Given the description of an element on the screen output the (x, y) to click on. 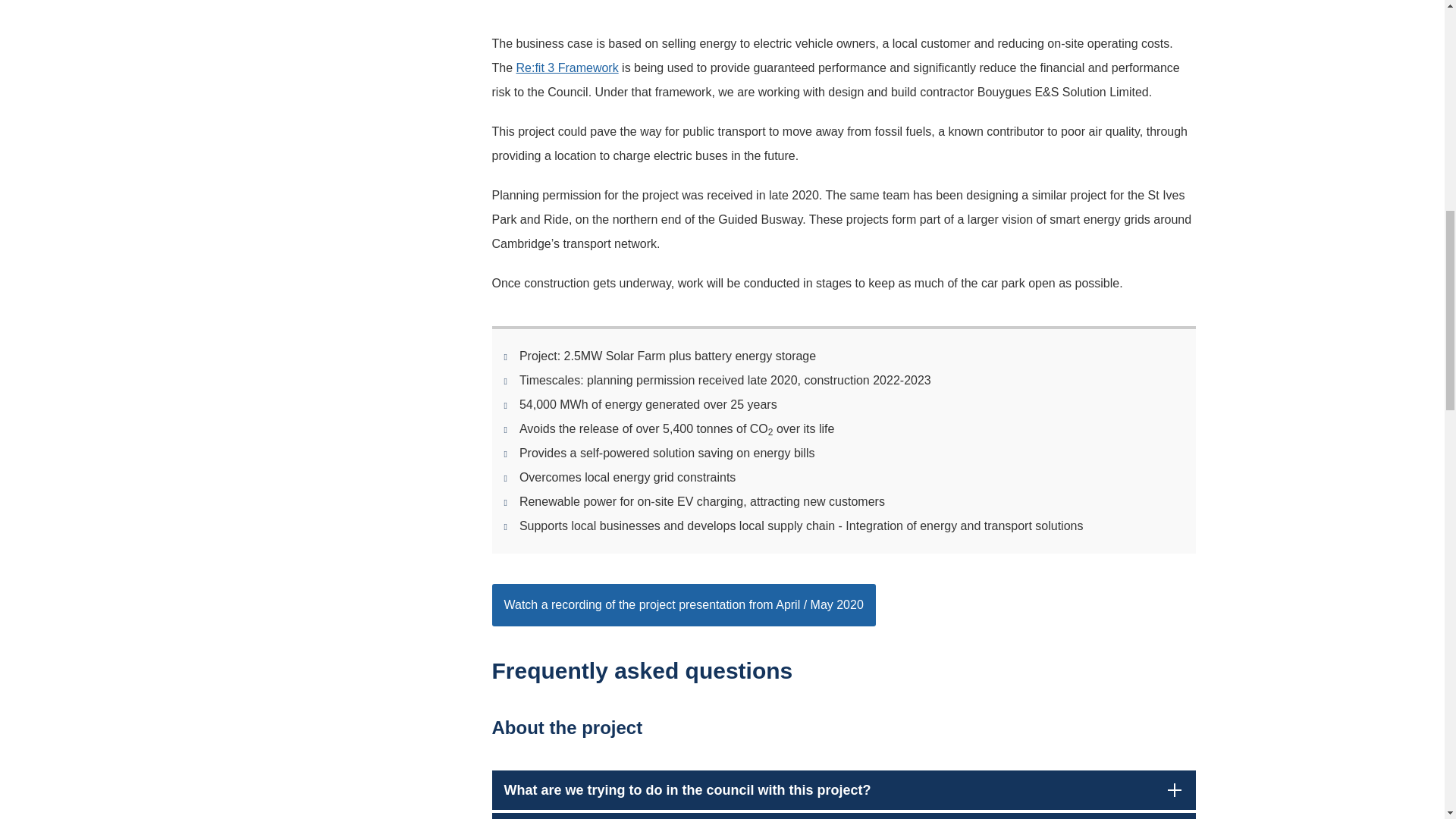
What are we trying to do in the council with this project? (843, 789)
Re:fit 3 Framework (567, 67)
